Given the description of an element on the screen output the (x, y) to click on. 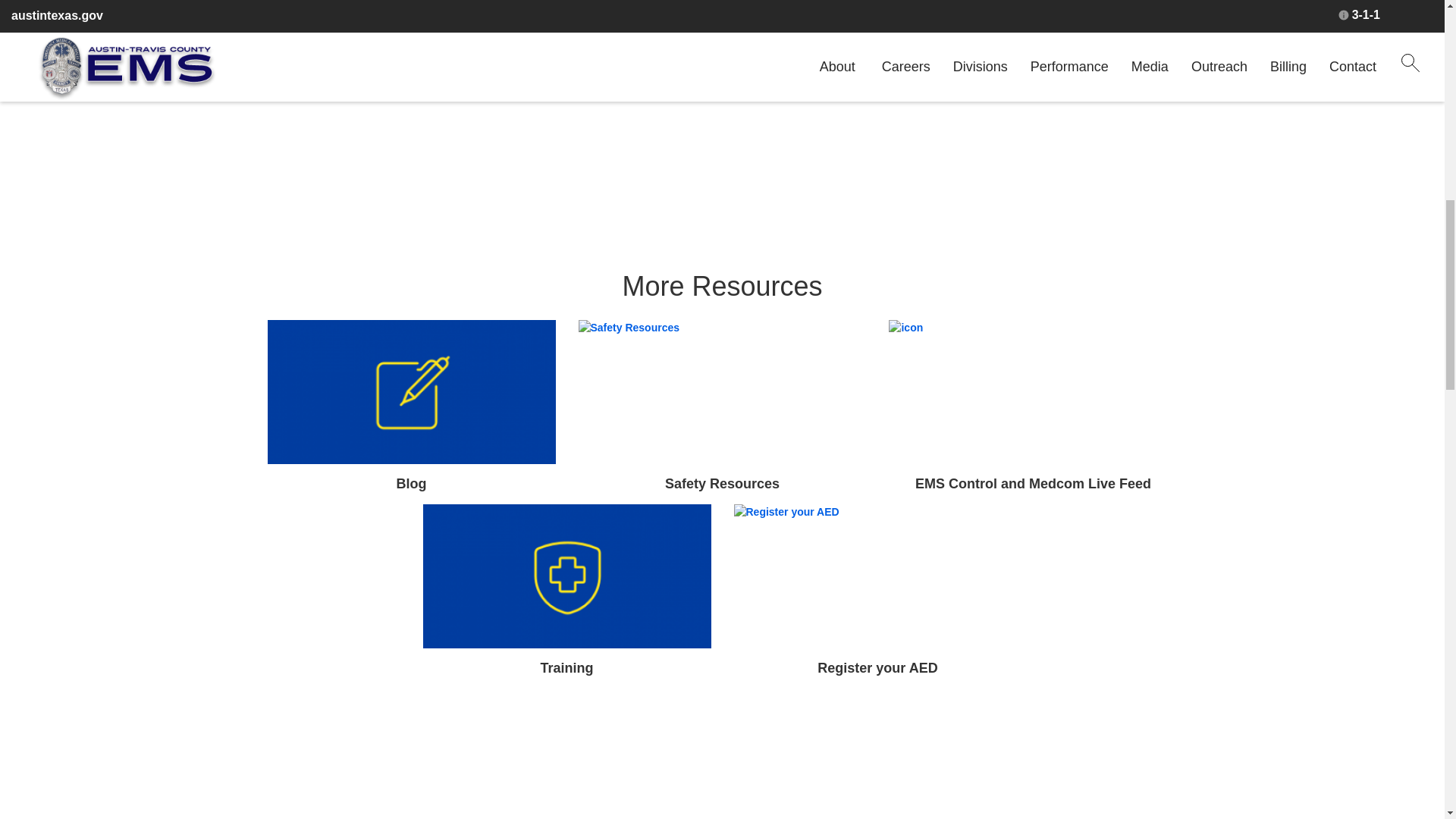
Register your AED (876, 667)
Safety Resources (721, 483)
Blog (411, 483)
Training (566, 667)
EMS Control and Medcom Live Feed (1033, 483)
